Given the description of an element on the screen output the (x, y) to click on. 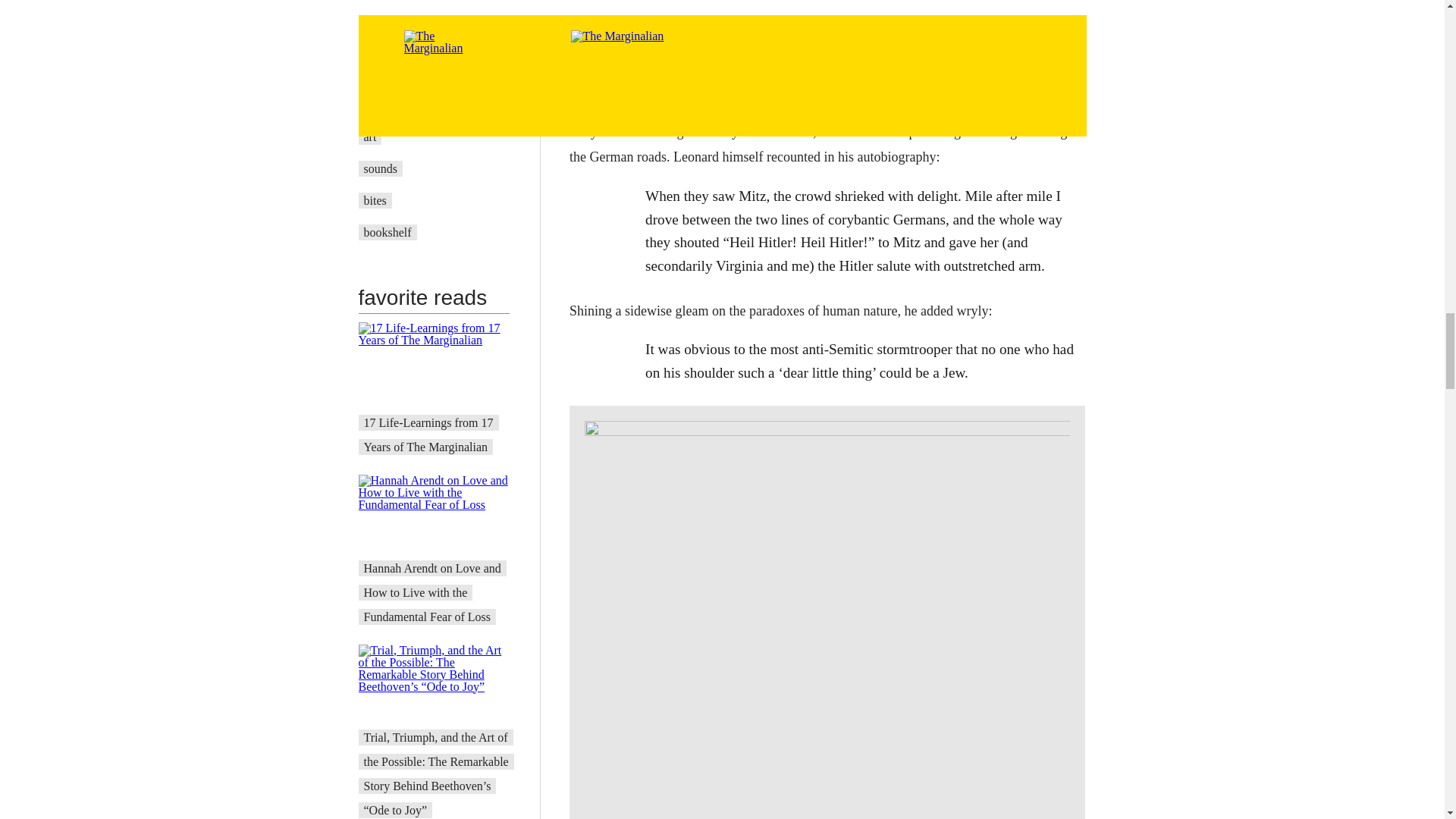
A Velocity of Being (412, 105)
sounds (380, 168)
bites (375, 200)
